Given the description of an element on the screen output the (x, y) to click on. 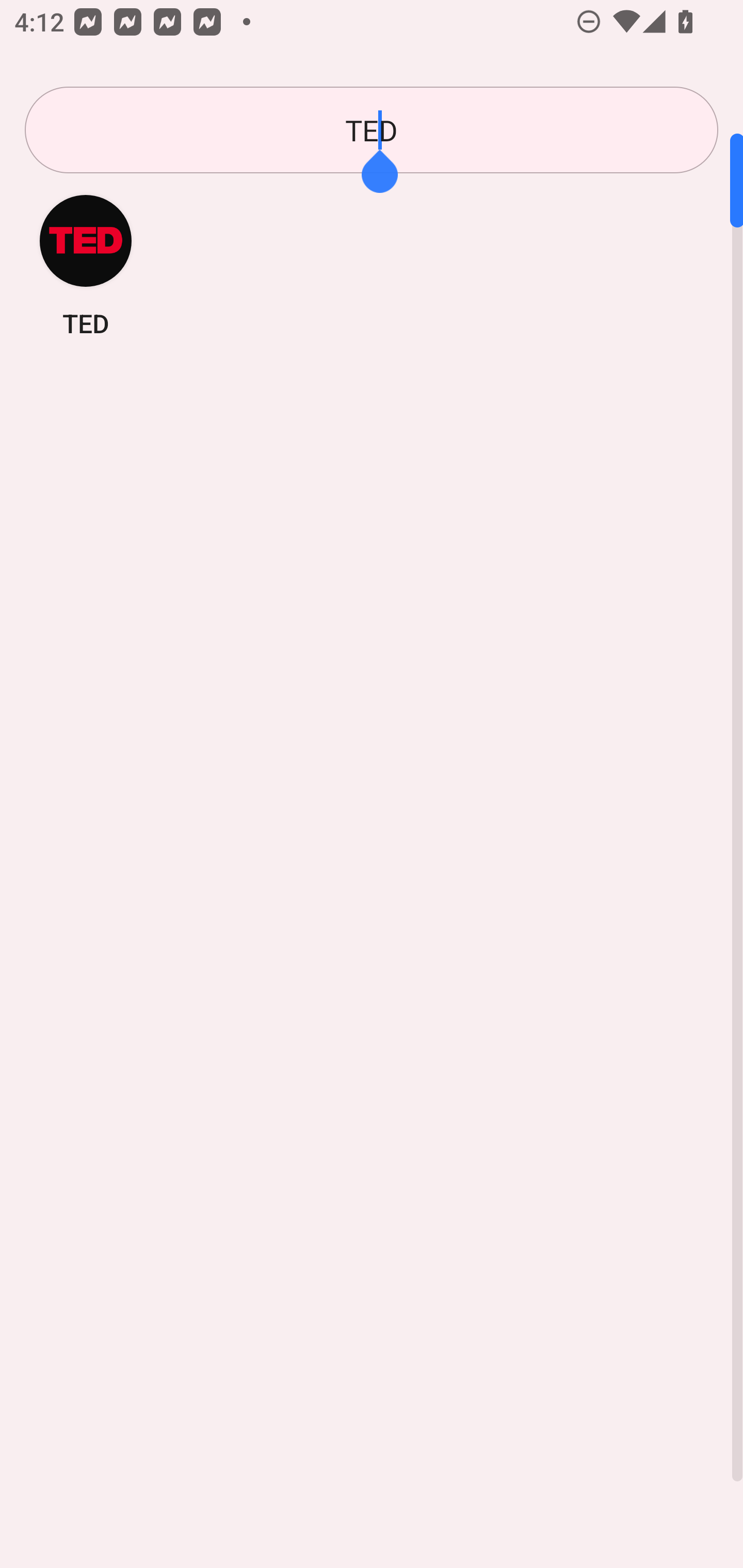
TED (371, 130)
TED (85, 264)
